Given the description of an element on the screen output the (x, y) to click on. 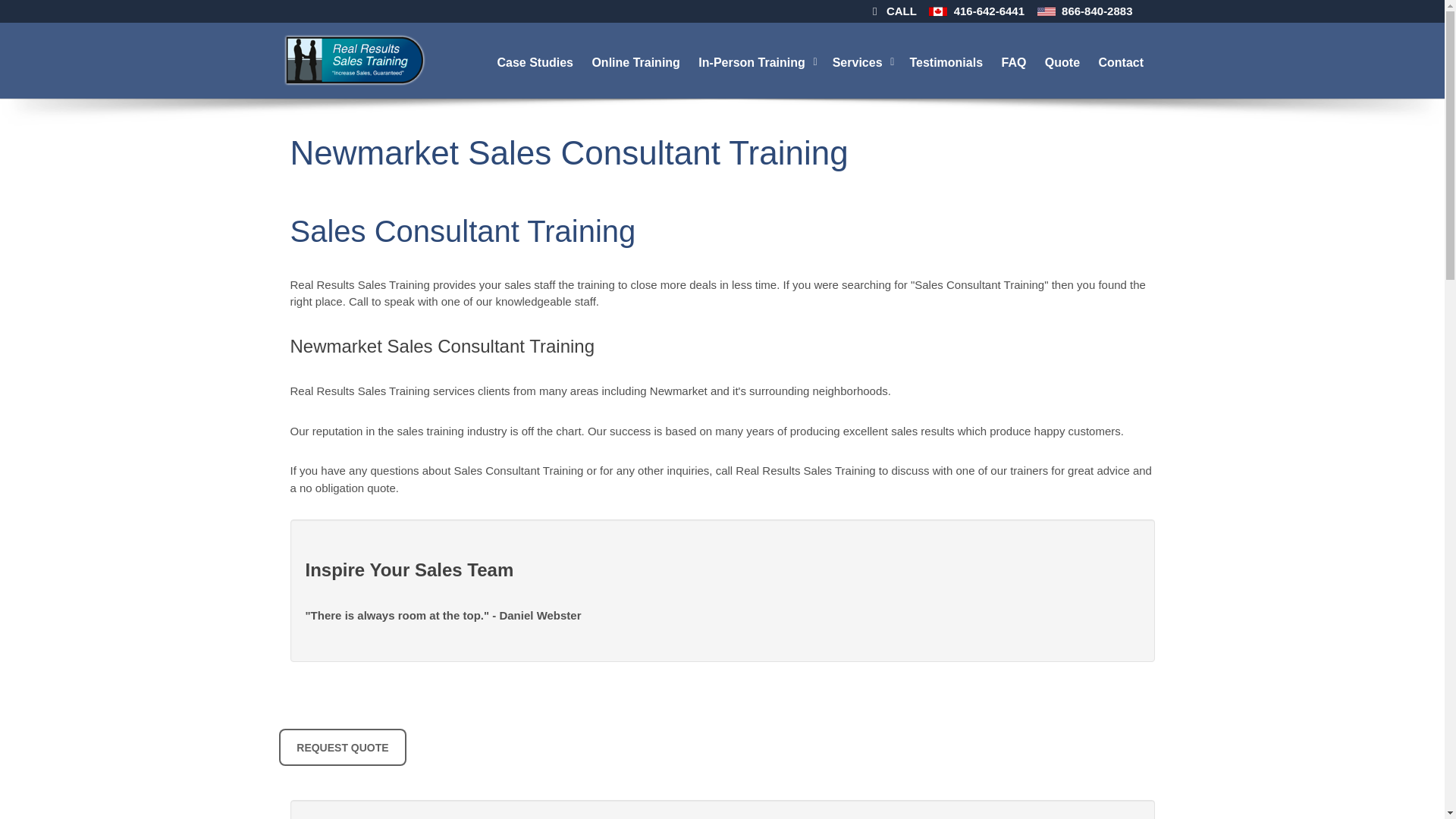
Online Training  (636, 60)
Testimonials  (946, 60)
Case Studies  (536, 60)
Home - Real Results Sales Training (353, 59)
Call in Canada for Sales Training (937, 12)
Call in the US for Sales Training (1045, 12)
Services   (863, 60)
In-Person Training   (757, 60)
866-840-2883 (1096, 10)
416-642-6441 (989, 10)
